Given the description of an element on the screen output the (x, y) to click on. 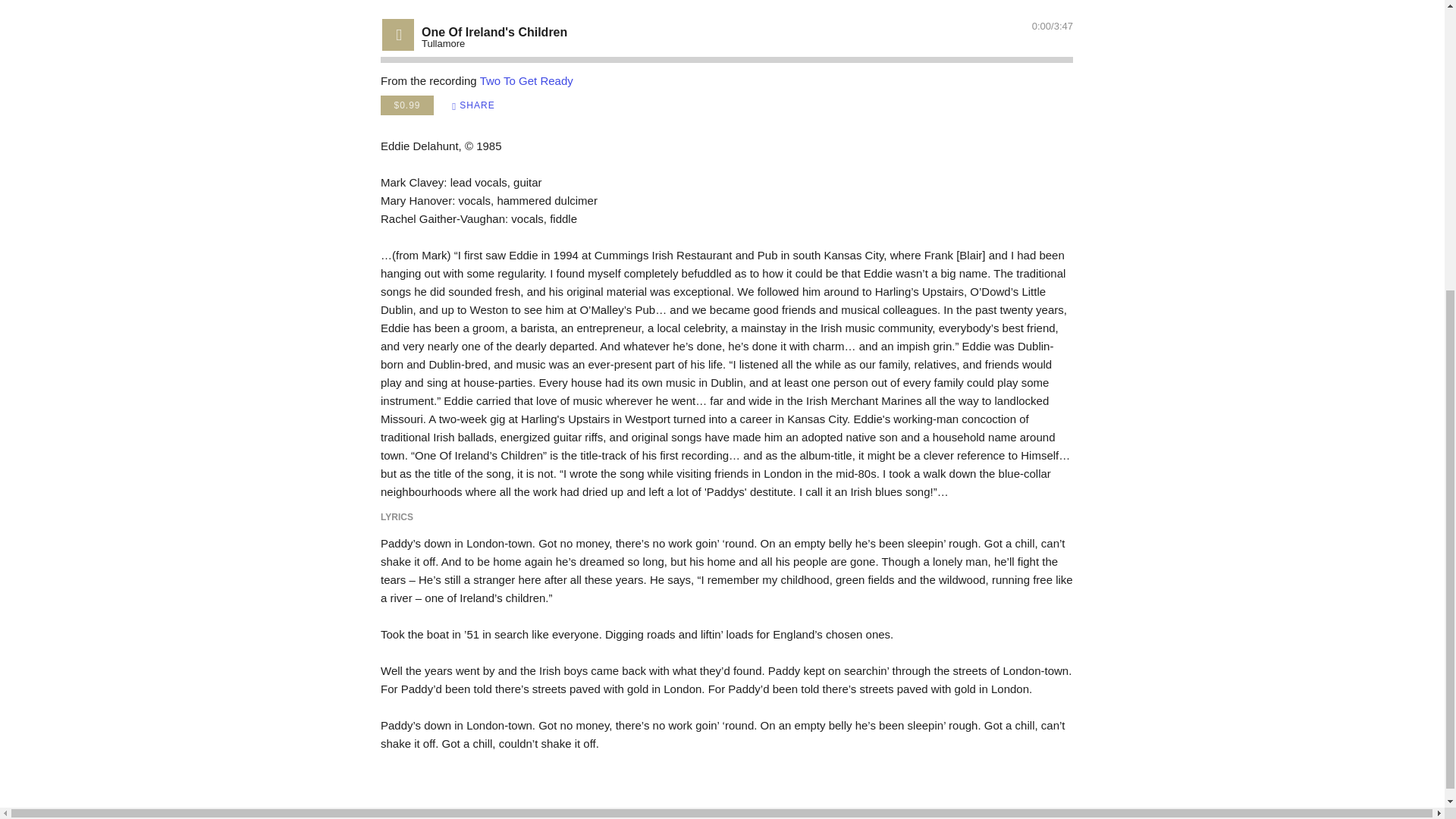
Play (398, 33)
Share One Of Ireland's Children (472, 105)
